Given the description of an element on the screen output the (x, y) to click on. 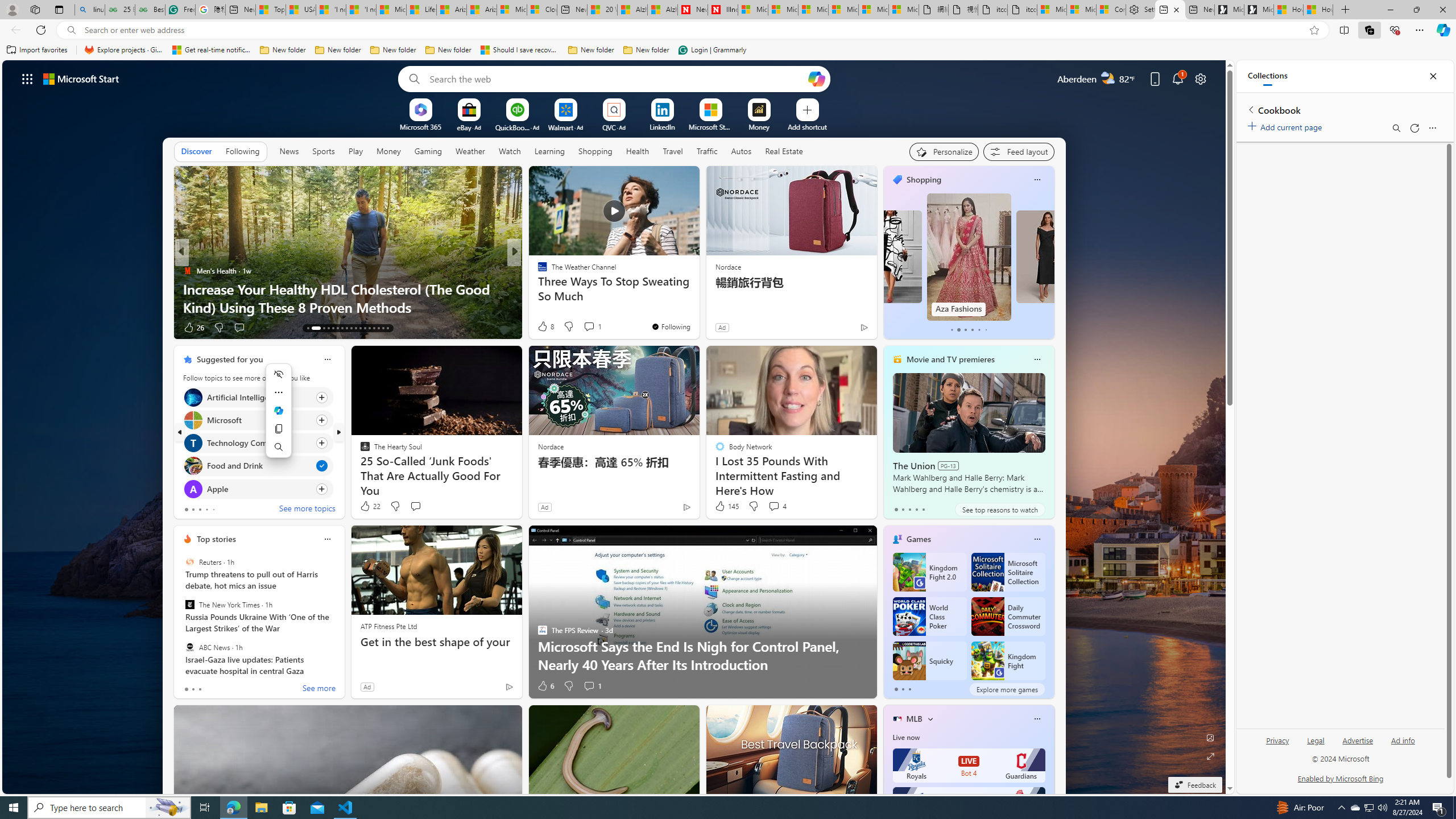
Click to follow topic Microsoft (257, 419)
More interests (930, 718)
Shopping (922, 179)
AutomationID: tab-14 (315, 328)
View comments 10 Comment (597, 327)
Suggested for you (229, 359)
Add a site (807, 126)
Class: icon-img (1037, 718)
More actions (278, 392)
